Given the description of an element on the screen output the (x, y) to click on. 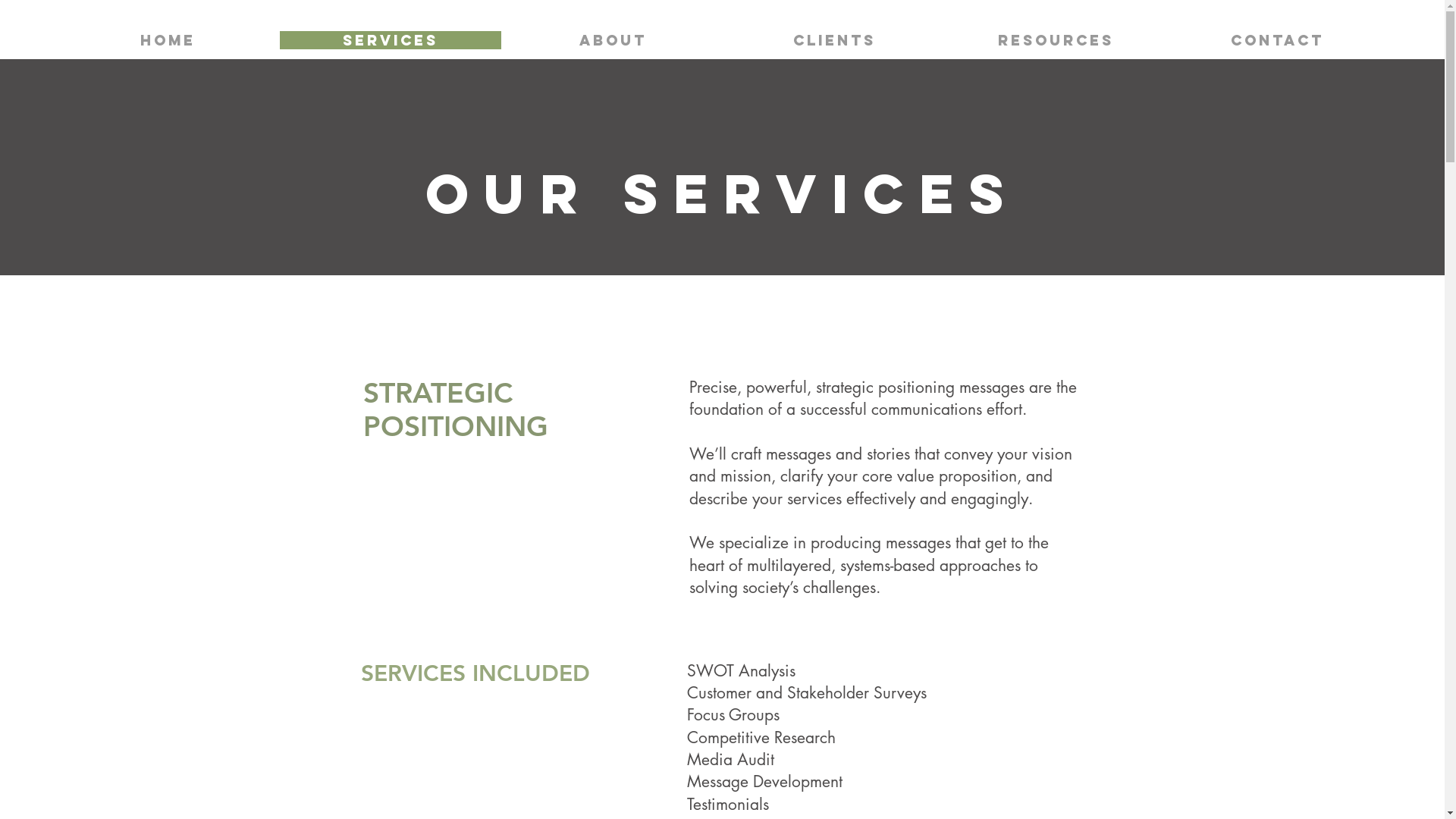
CONTACT Element type: text (1276, 40)
CLIENTS Element type: text (833, 40)
RESOURCES Element type: text (1055, 40)
ABOUT Element type: text (612, 40)
SERVICES Element type: text (390, 40)
HOME Element type: text (167, 40)
